Given the description of an element on the screen output the (x, y) to click on. 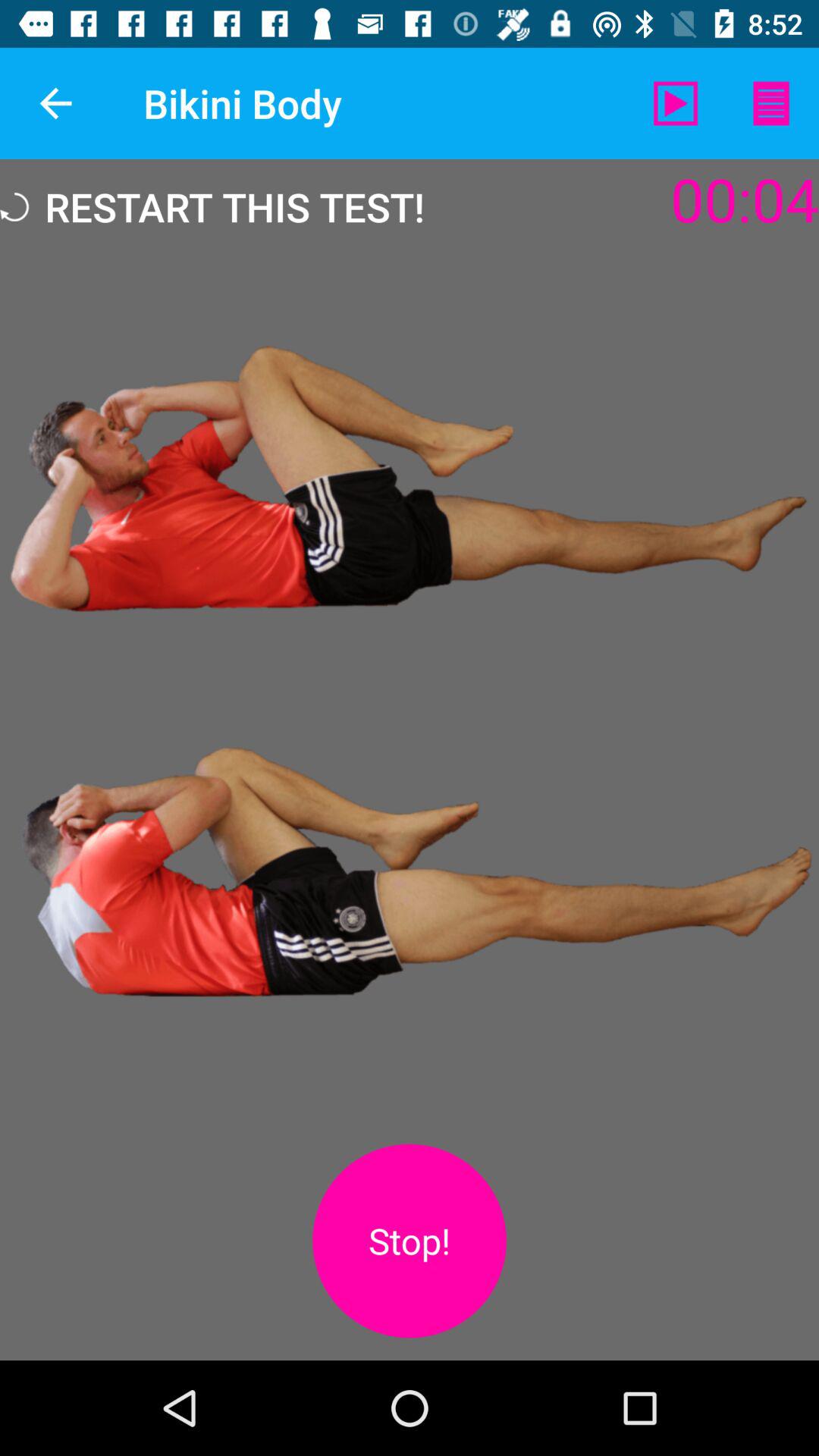
click item above 00:05 (771, 103)
